Given the description of an element on the screen output the (x, y) to click on. 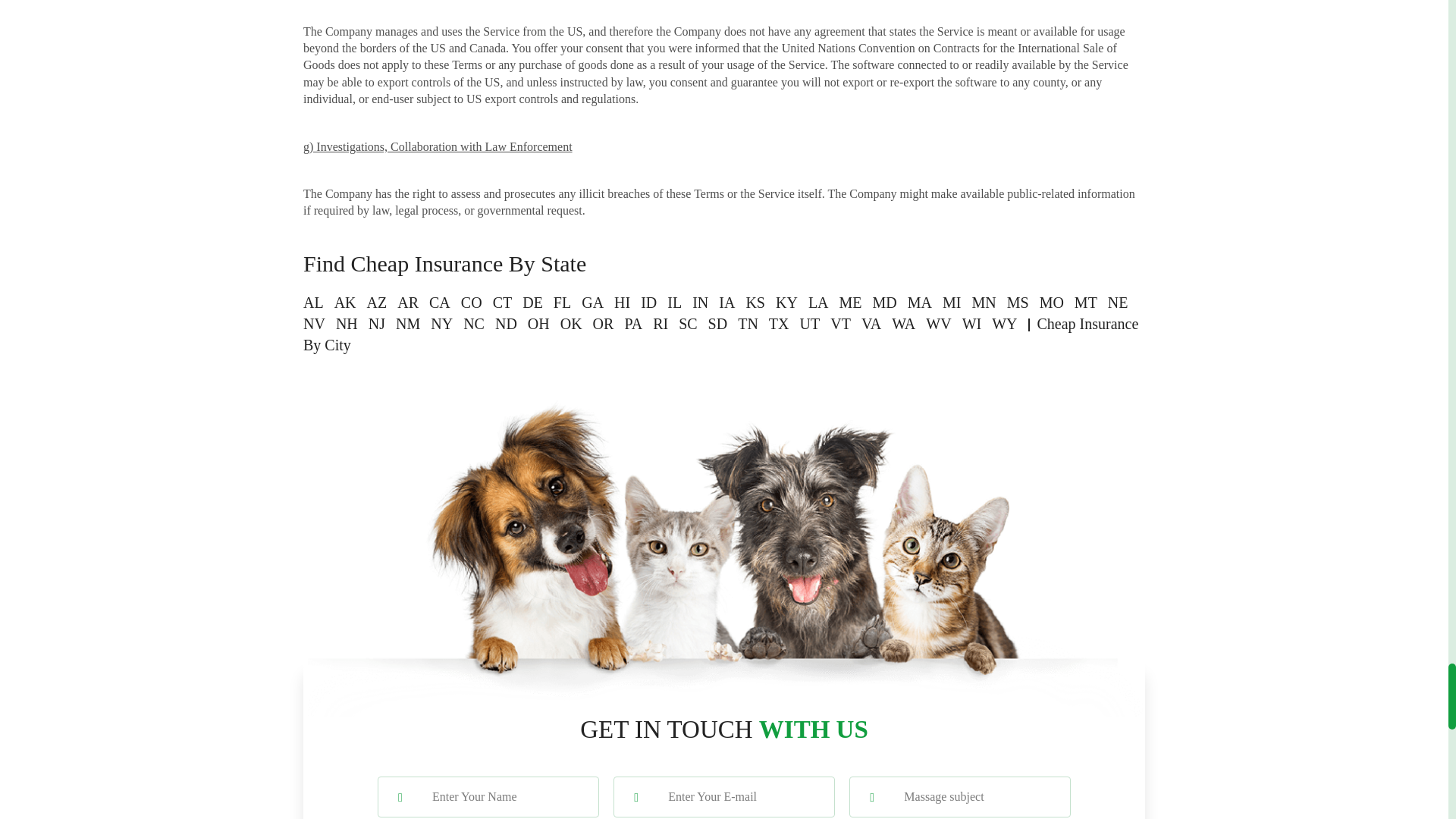
DE (532, 302)
CT (502, 302)
GA (592, 302)
AZ (376, 302)
CO (471, 302)
AR (408, 302)
AL (312, 302)
HI (622, 302)
AK (345, 302)
CA (439, 302)
FL (561, 302)
